Given the description of an element on the screen output the (x, y) to click on. 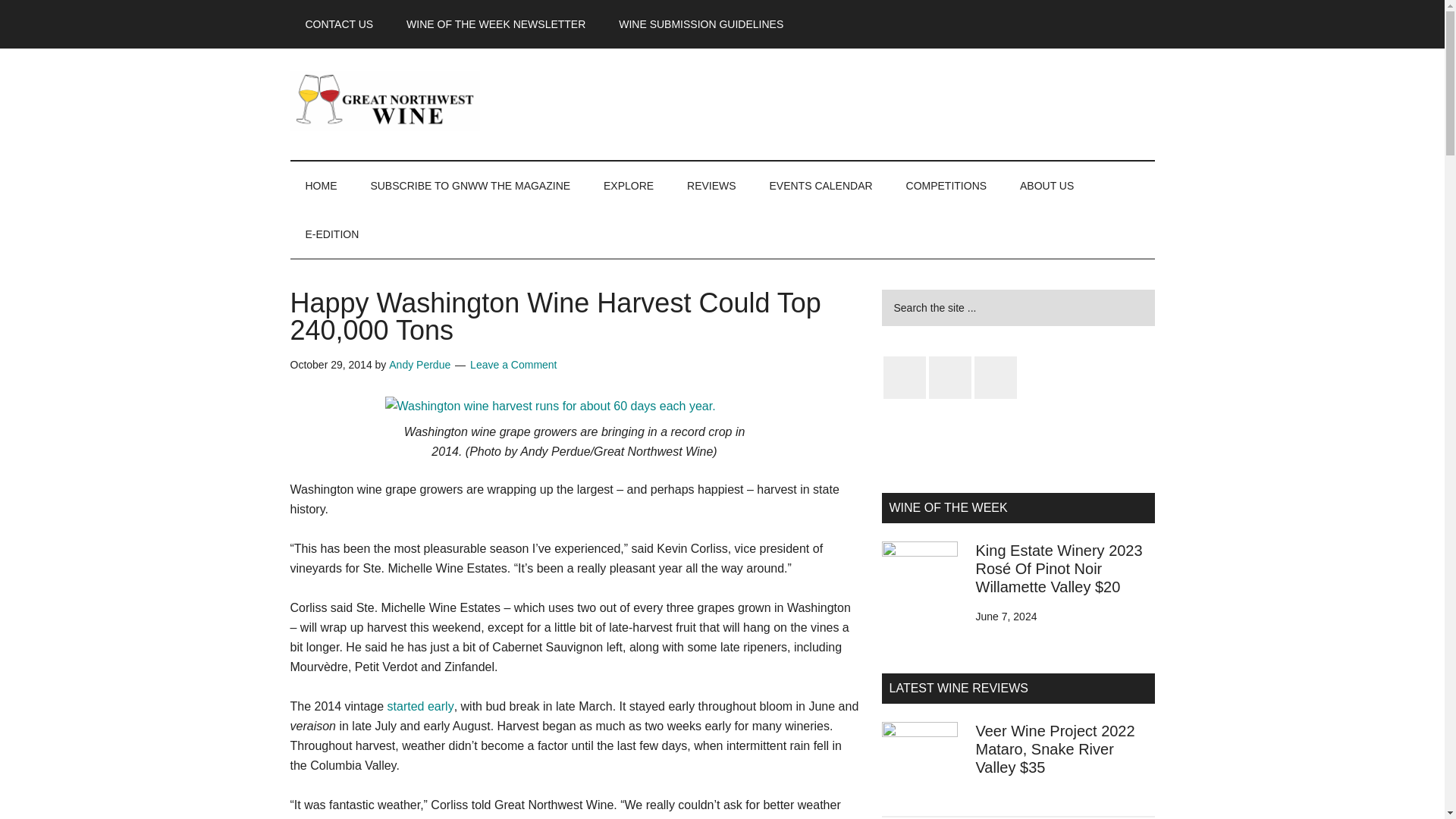
WINE SUBMISSION GUIDELINES (700, 24)
CONTACT US (338, 24)
WINE OF THE WEEK NEWSLETTER (495, 24)
HOME (320, 185)
EVENTS CALENDAR (820, 185)
SUBSCRIBE TO GNWW THE MAGAZINE (470, 185)
Washington vineyards get through winter unscathed (420, 706)
